Given the description of an element on the screen output the (x, y) to click on. 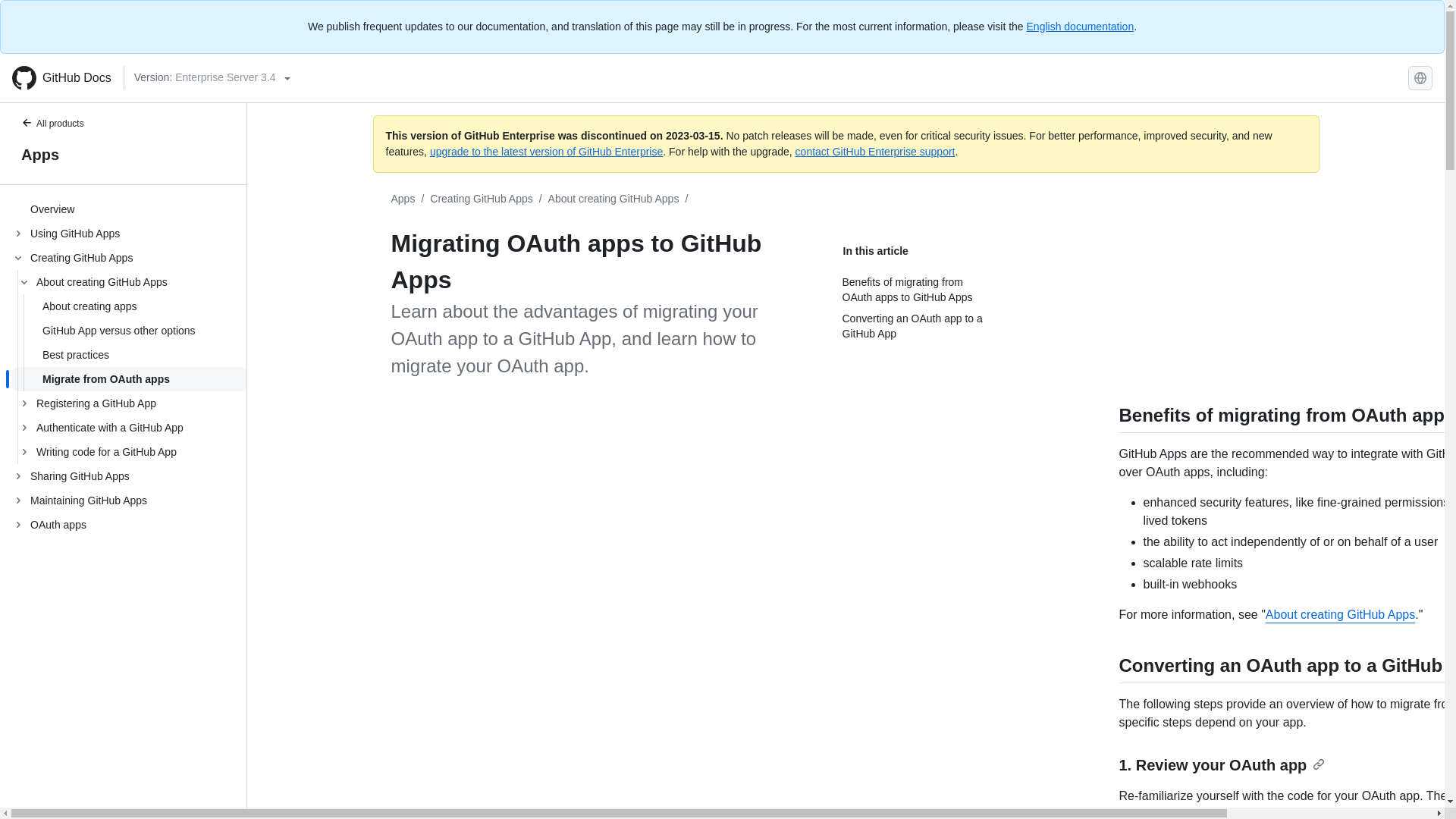
Converting an OAuth app to a GitHub App (1287, 665)
Apps (402, 198)
About creating GitHub Apps (613, 198)
Creating GitHub Apps (480, 198)
1. Review your OAuth app (1221, 764)
Migrate from OAuth apps (128, 378)
2023-03-15 (692, 135)
GitHub Docs (61, 78)
Benefits of migrating from OAuth apps to GitHub Apps (916, 289)
English documentation (1080, 26)
Benefits of migrating from OAuth apps to GitHub Apps (1287, 414)
About creating GitHub Apps (613, 198)
GitHub App versus other options (128, 330)
upgrade to the latest version of GitHub Enterprise (545, 151)
Creating GitHub Apps (480, 198)
